Given the description of an element on the screen output the (x, y) to click on. 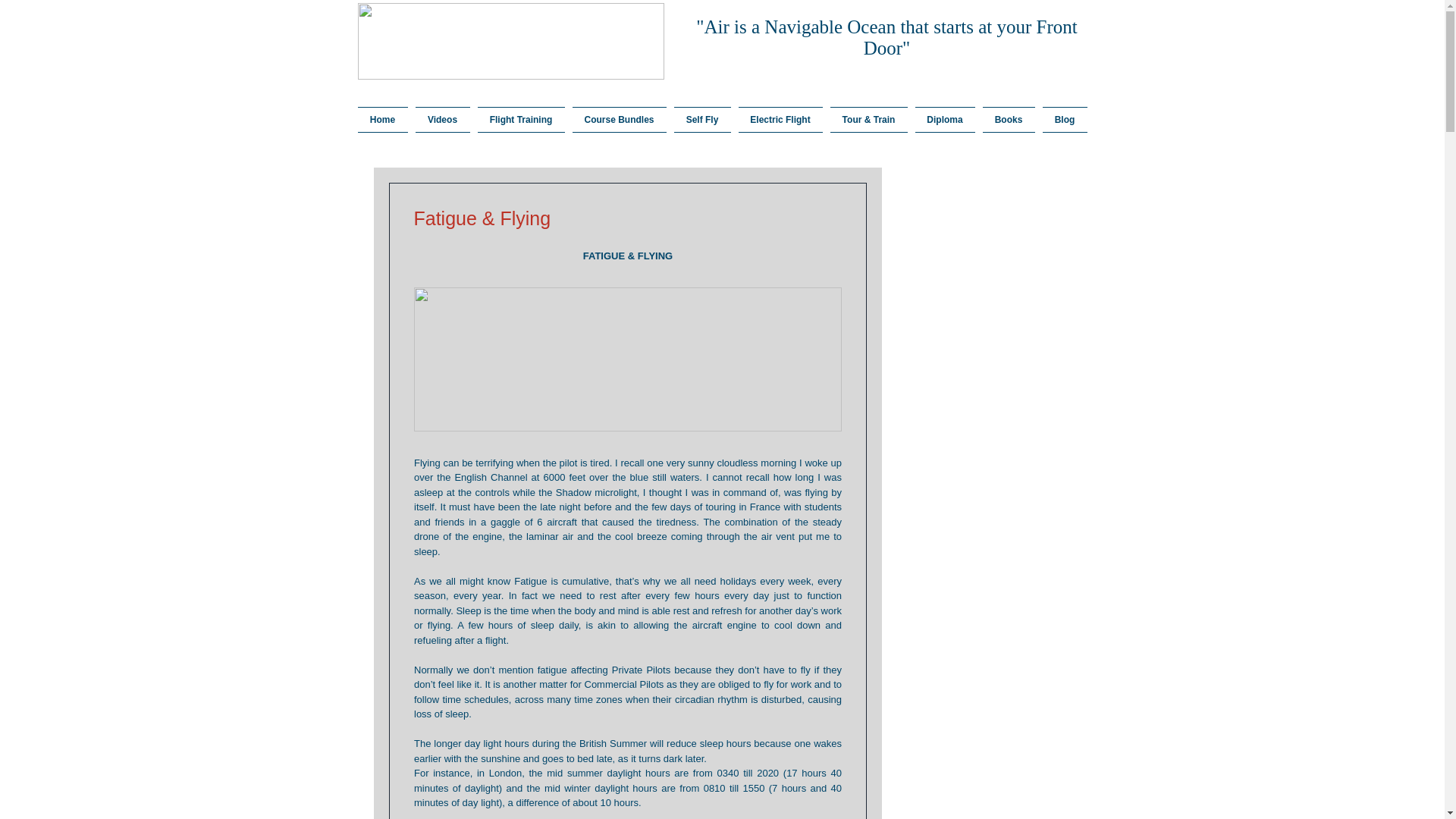
Home (385, 119)
Videos (441, 119)
Flight Training (520, 119)
Electric Flight (779, 119)
Diploma (944, 119)
Course Bundles (619, 119)
Blog (1063, 119)
Books (1008, 119)
Self Fly (702, 119)
